Given the description of an element on the screen output the (x, y) to click on. 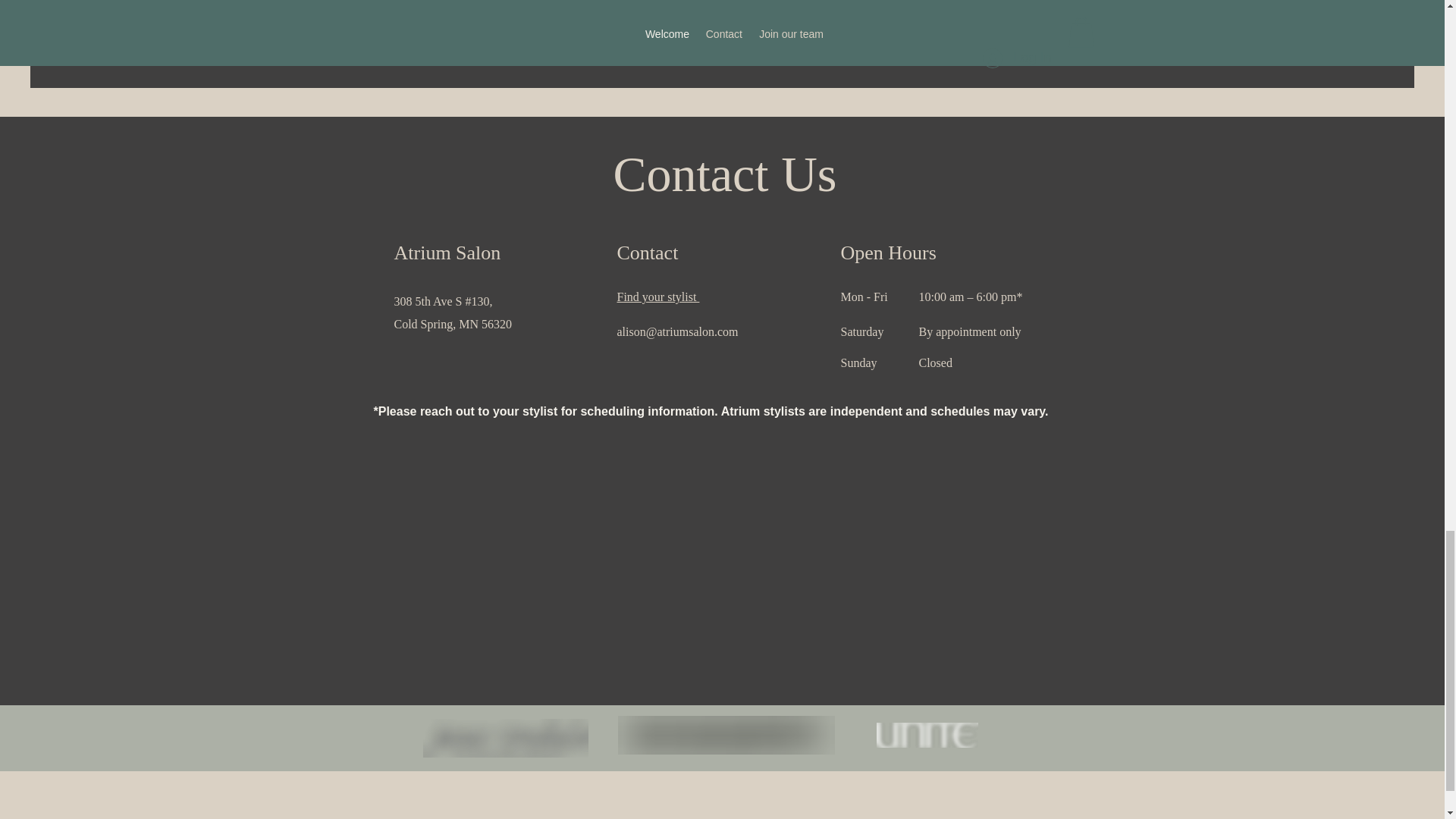
kevin-murphy-logo.png (725, 734)
Find your stylist  (658, 296)
